Given the description of an element on the screen output the (x, y) to click on. 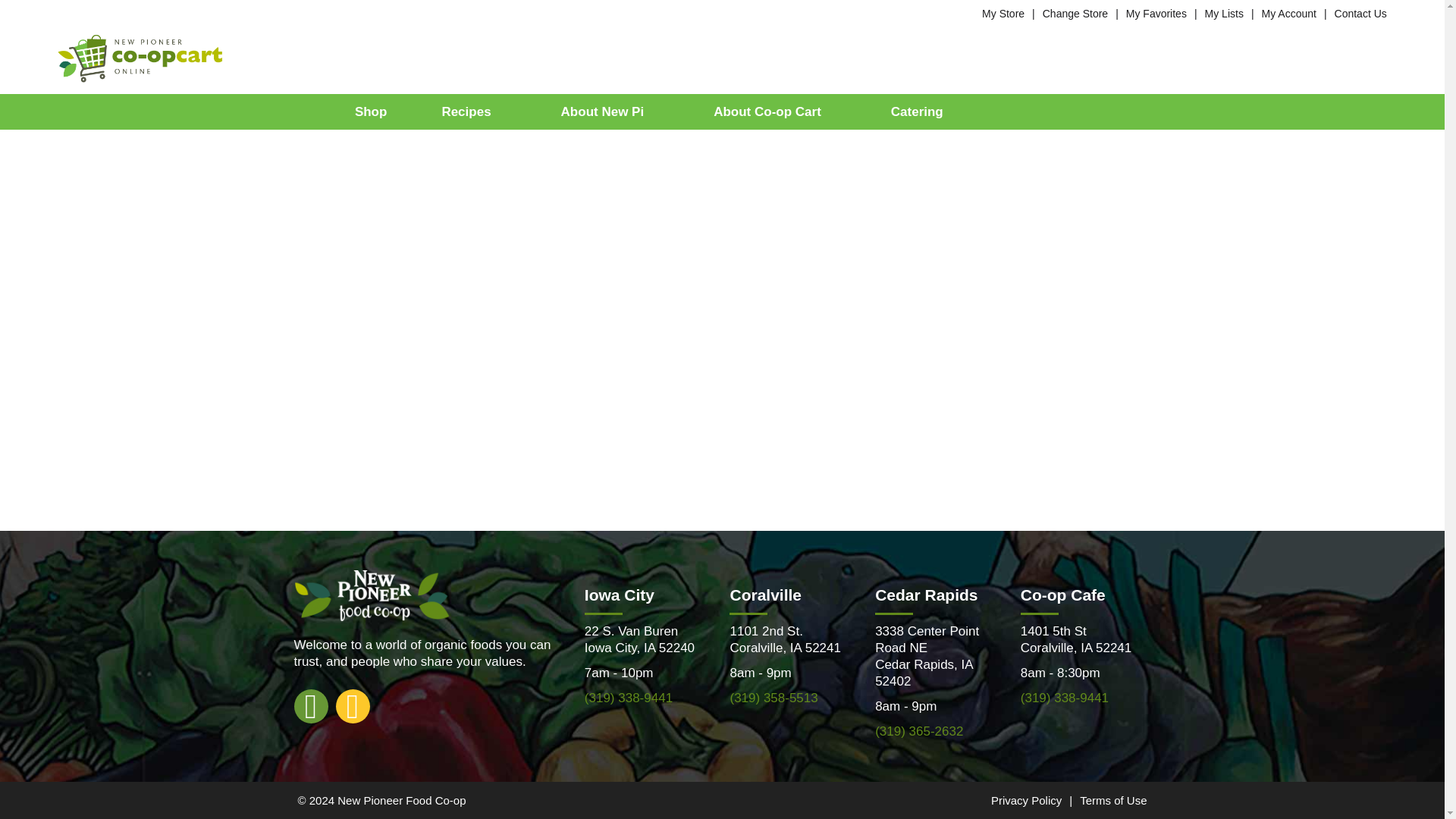
Recipes (472, 111)
My Lists (1224, 13)
Shop (370, 111)
Privacy Policy (1026, 799)
My Account (1289, 13)
Change Store (1075, 13)
facebook (311, 705)
Contact Us (1361, 13)
About Co-op Cart (774, 111)
About New Pi (610, 111)
